Given the description of an element on the screen output the (x, y) to click on. 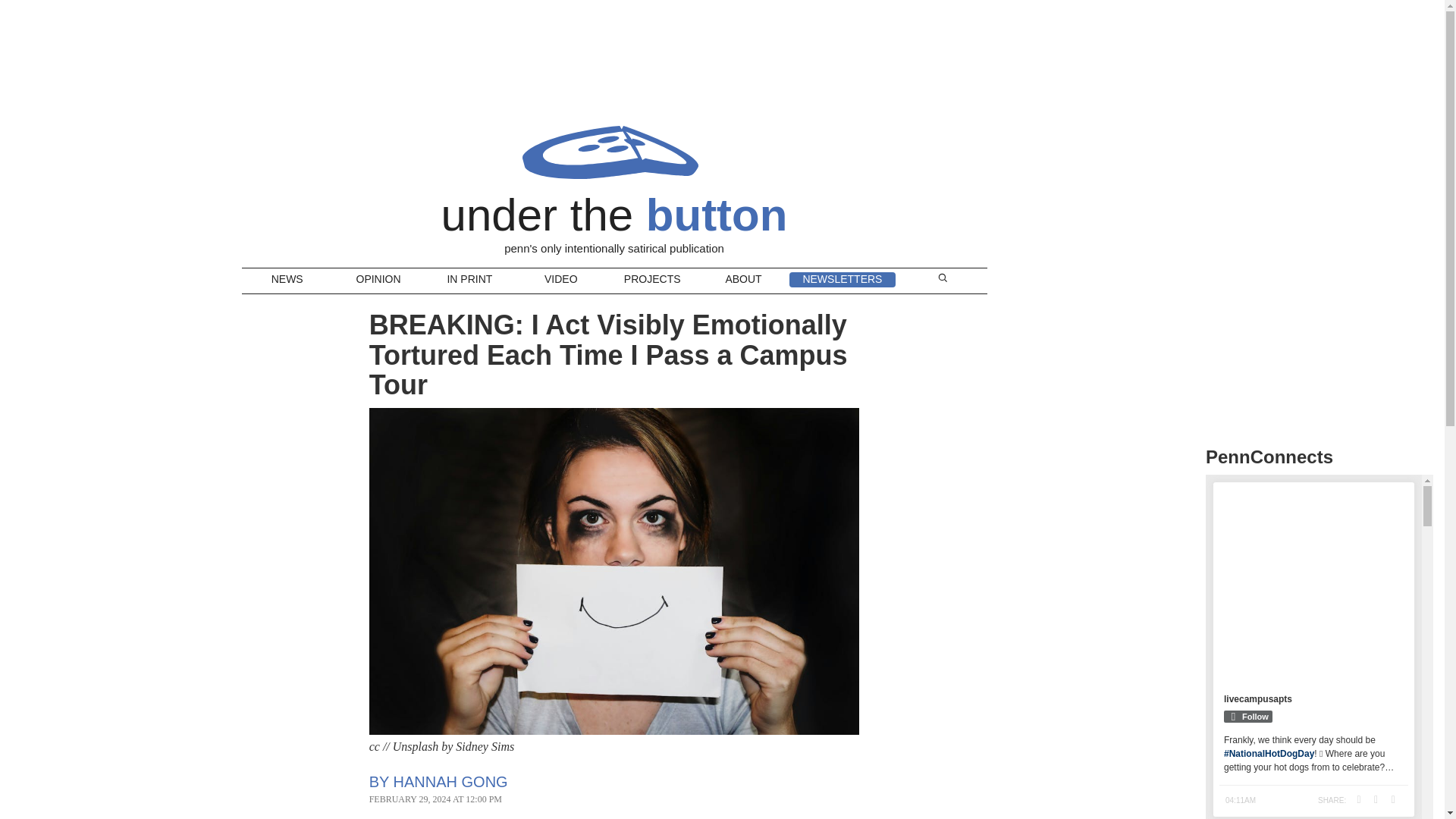
NEWSLETTERS (842, 279)
NEWS (286, 280)
OPINION (378, 280)
IN PRINT (469, 280)
PROJECTS (652, 280)
ABOUT (743, 280)
VIDEO (561, 280)
3rd party ad content (1318, 117)
HANNAH GONG (450, 781)
